Given the description of an element on the screen output the (x, y) to click on. 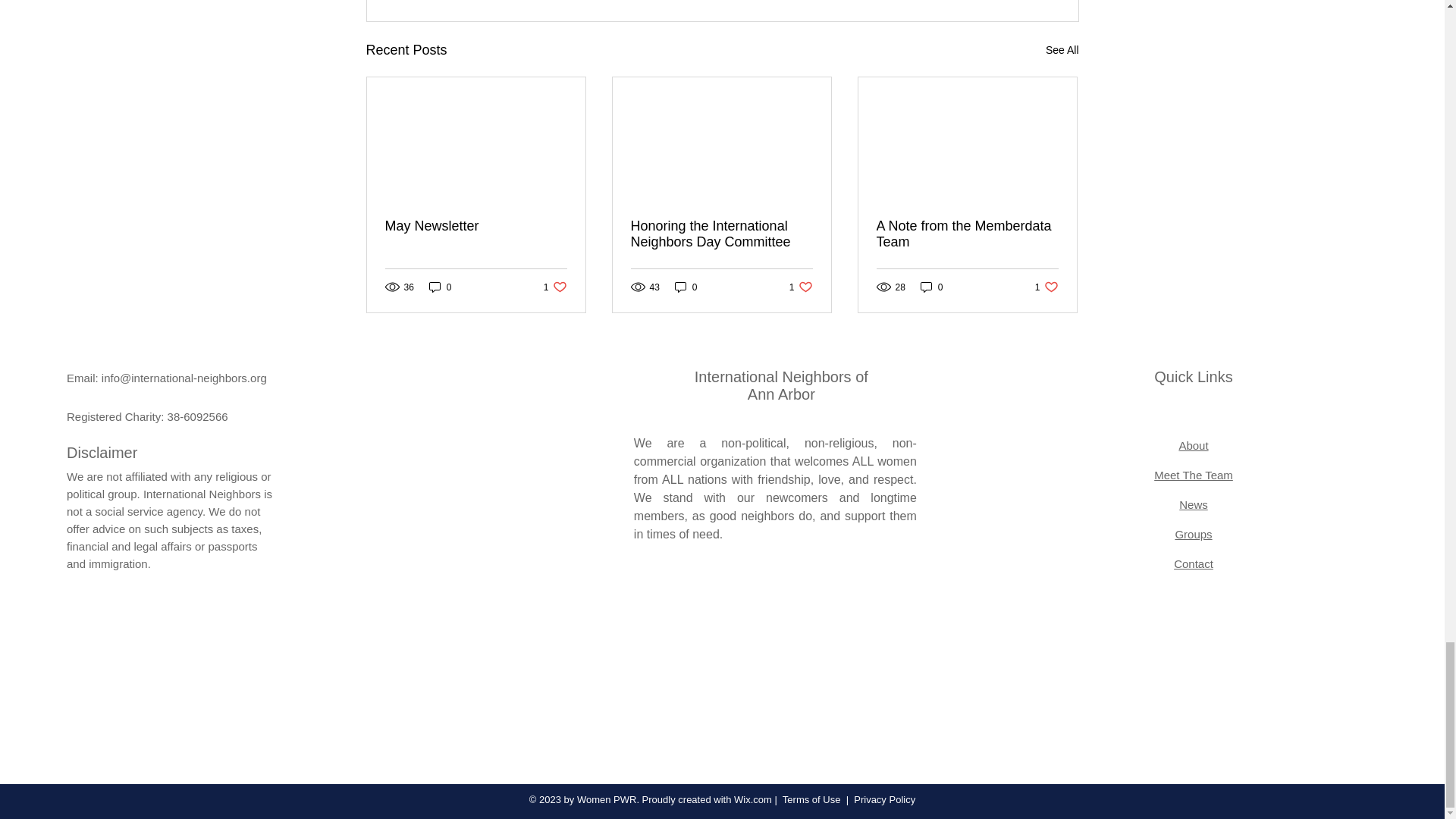
0 (440, 287)
See All (1061, 50)
May Newsletter (476, 226)
